Given the description of an element on the screen output the (x, y) to click on. 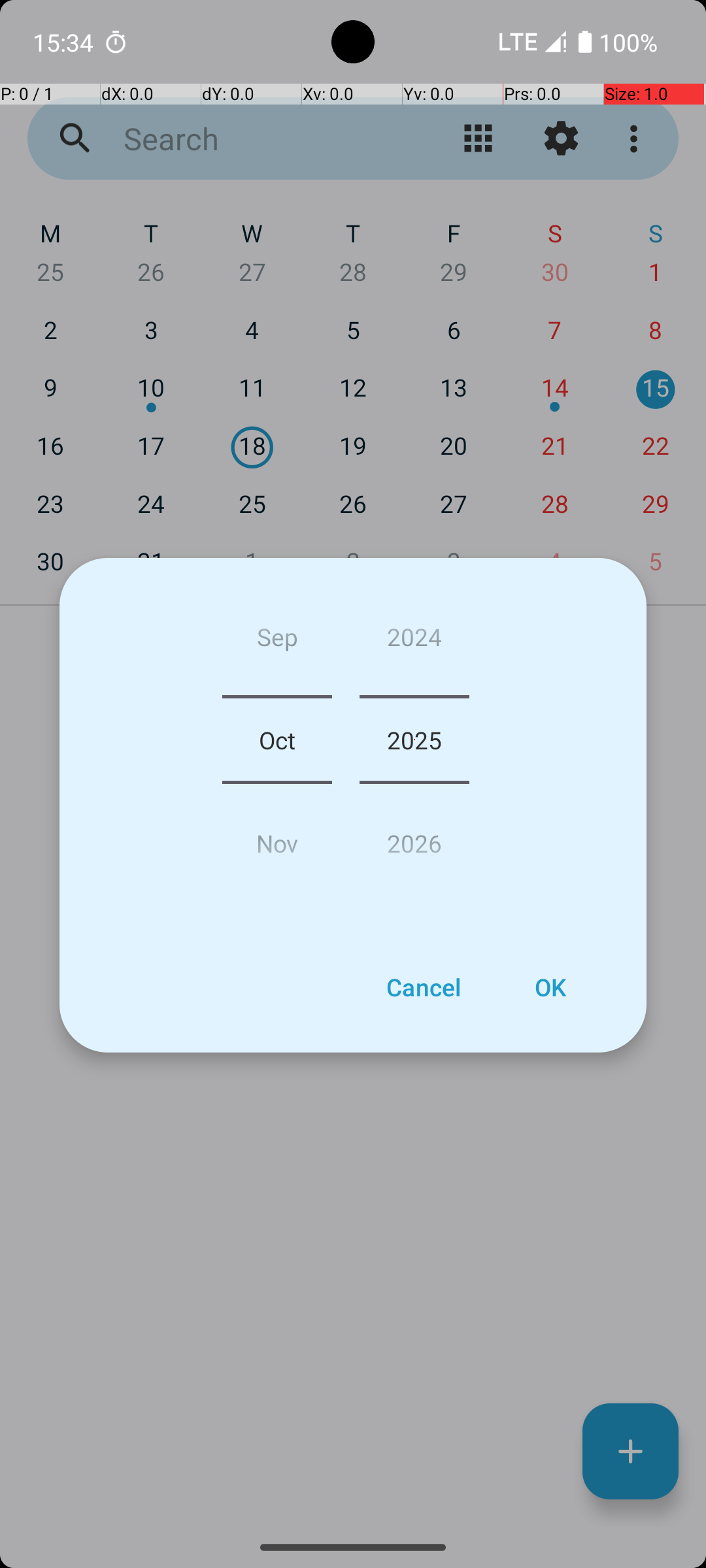
2026 Element type: android.widget.Button (414, 837)
